Given the description of an element on the screen output the (x, y) to click on. 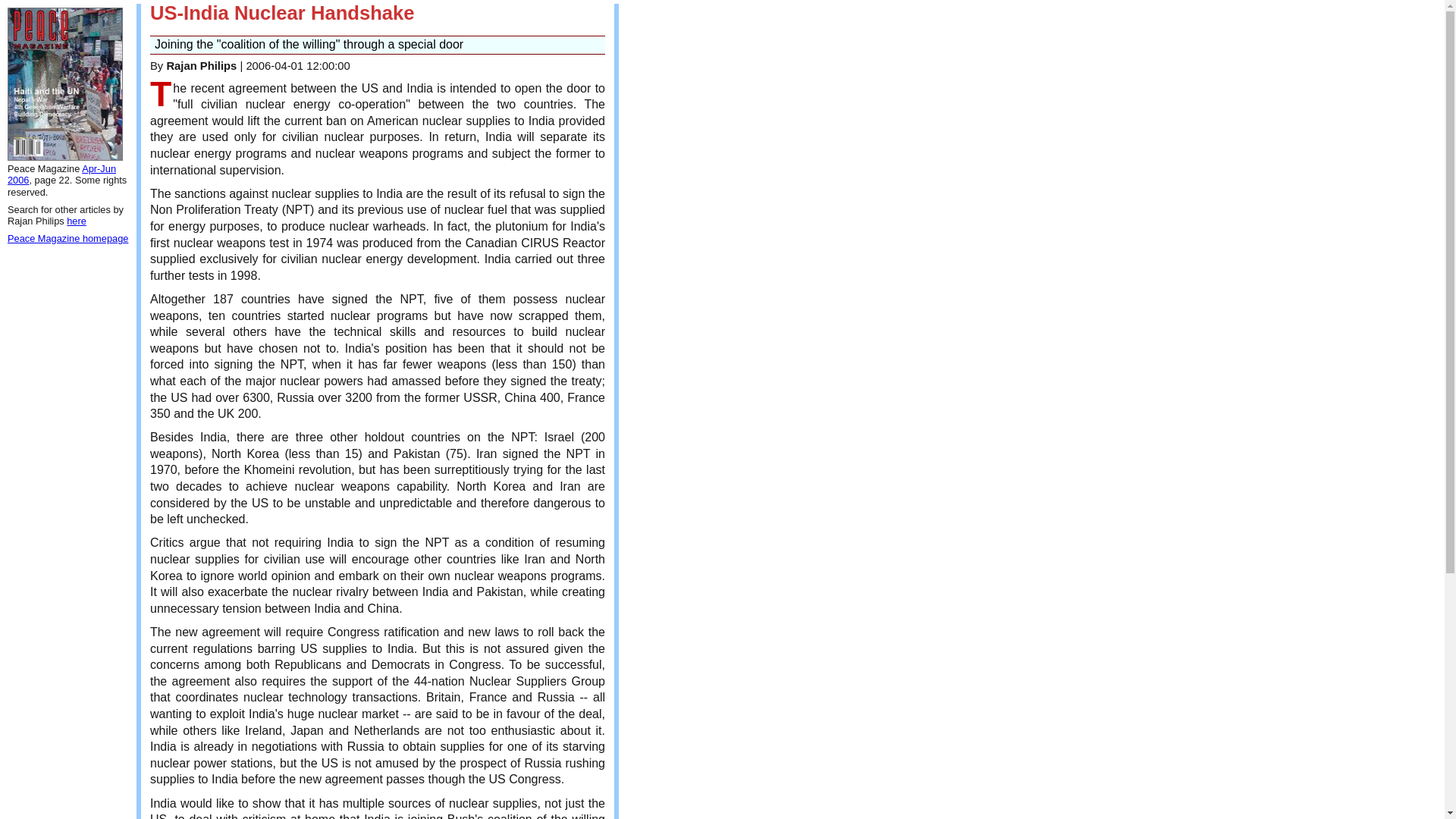
Peace Magazine homepage (67, 238)
here (75, 220)
Apr-Jun 2006 (61, 173)
